Given the description of an element on the screen output the (x, y) to click on. 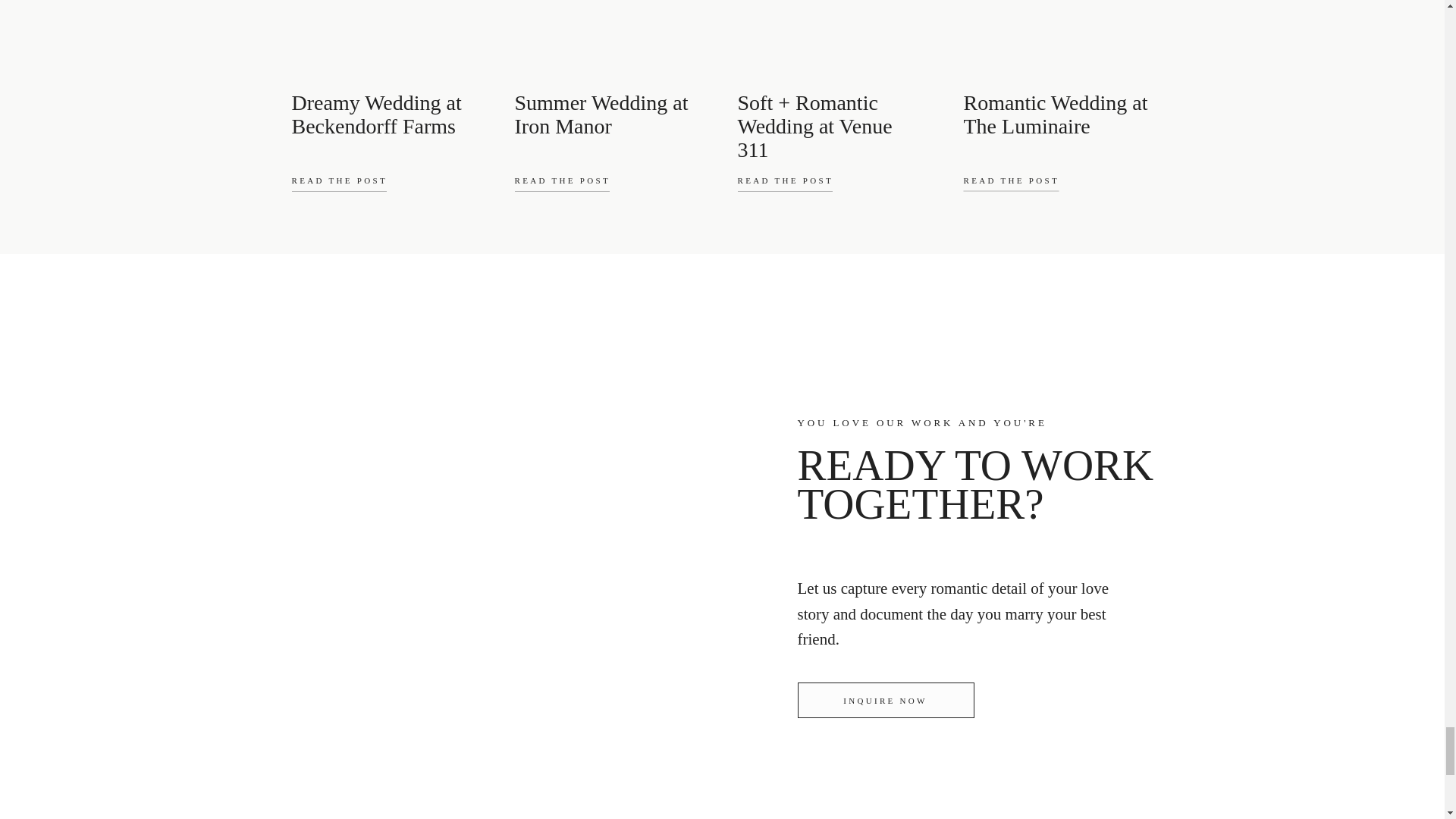
READ THE POST (806, 184)
INQUIRE NOW (885, 708)
READ THE POST (374, 184)
READ THE POST (581, 184)
Romantic Wedding at The Luminaire (1057, 114)
Dreamy Wedding at Beckendorff Farms (385, 114)
Summer Wedding at Iron Manor (608, 114)
READ THE POST (1032, 184)
